Given the description of an element on the screen output the (x, y) to click on. 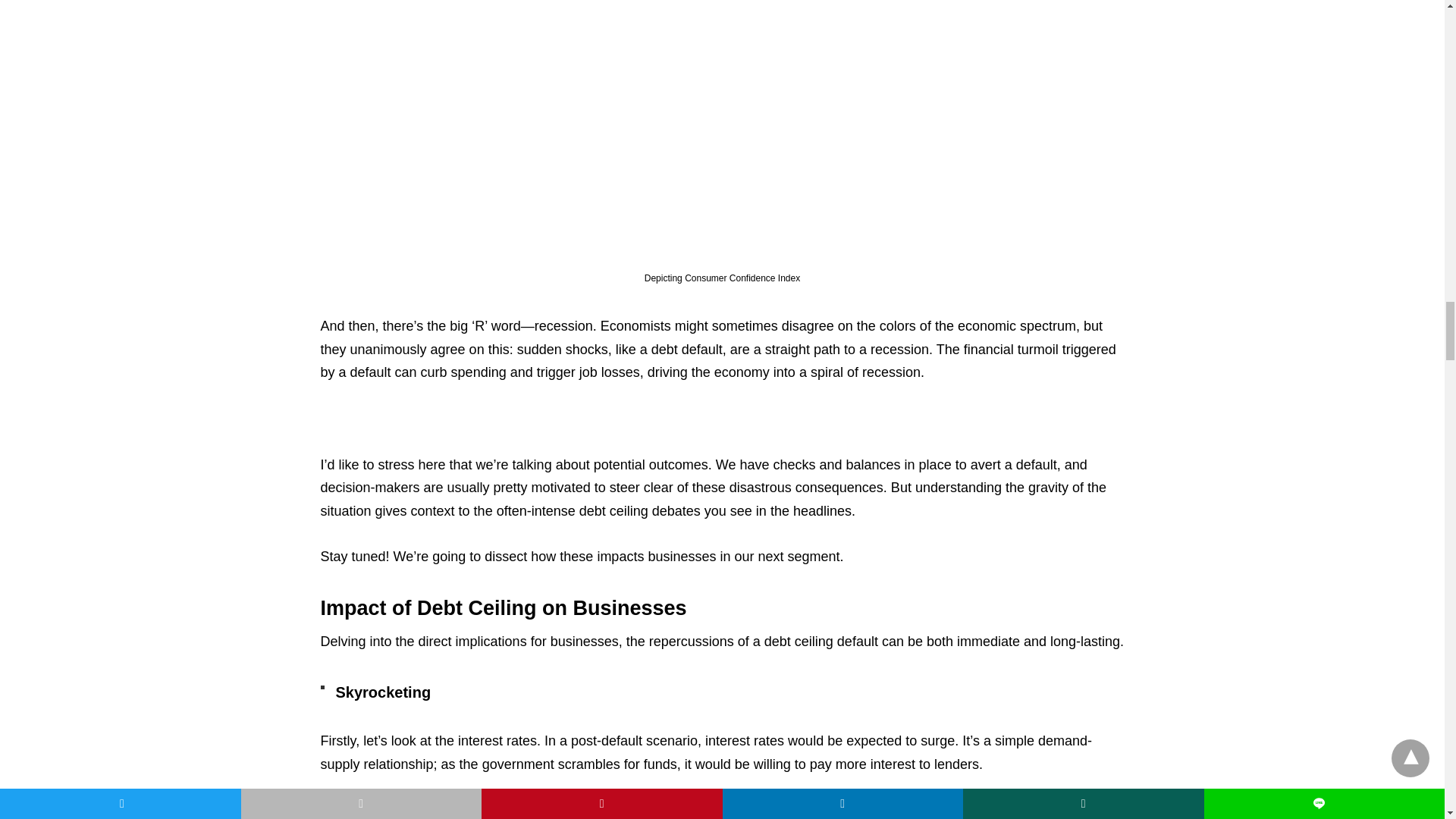
Video: Unpacking the Potential Economic Impact  (481, 418)
Interest Rates (485, 692)
